Given the description of an element on the screen output the (x, y) to click on. 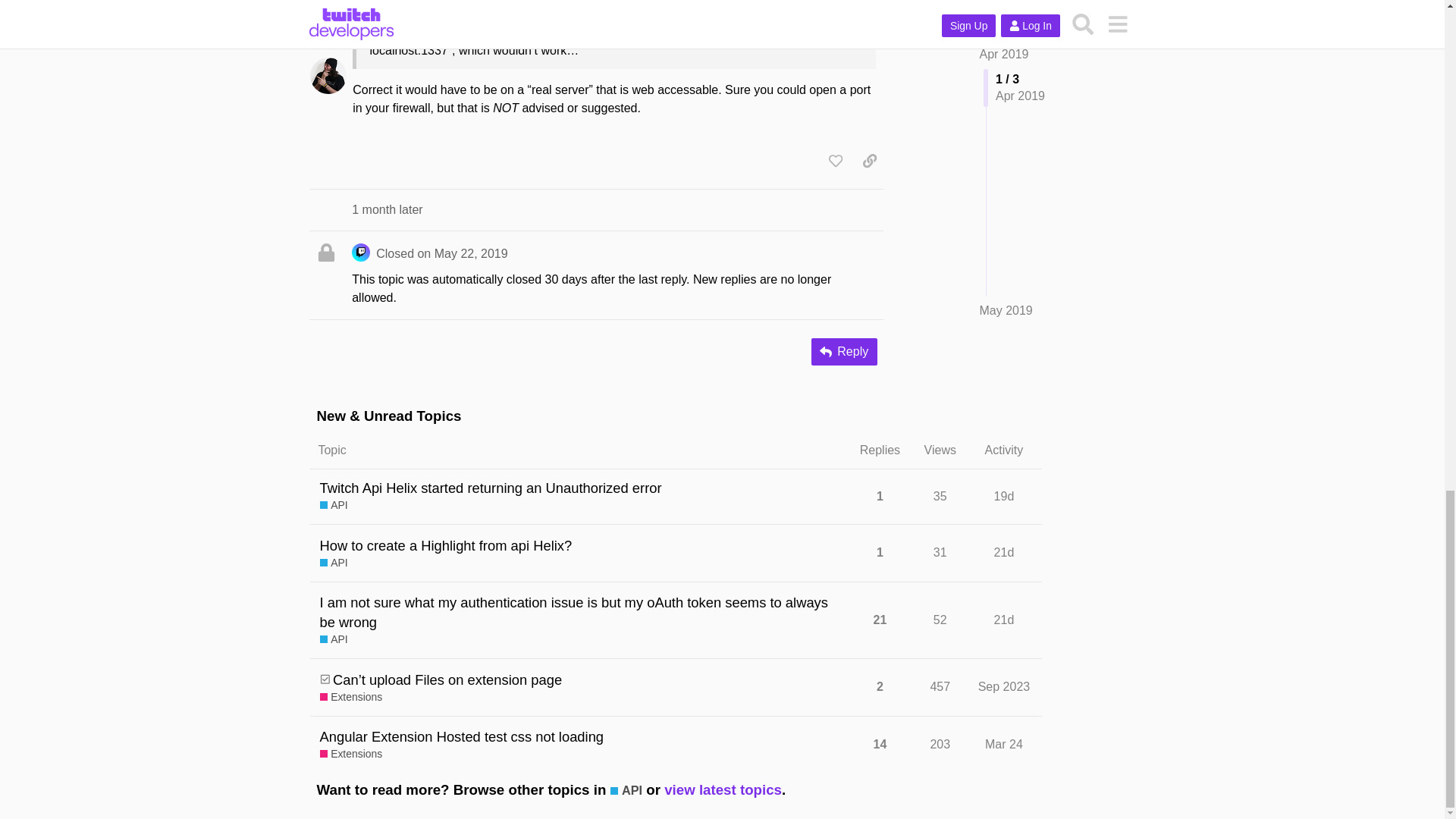
Twitch Api Helix started returning an Unauthorized error (491, 487)
Reply (843, 351)
API (333, 505)
